Given the description of an element on the screen output the (x, y) to click on. 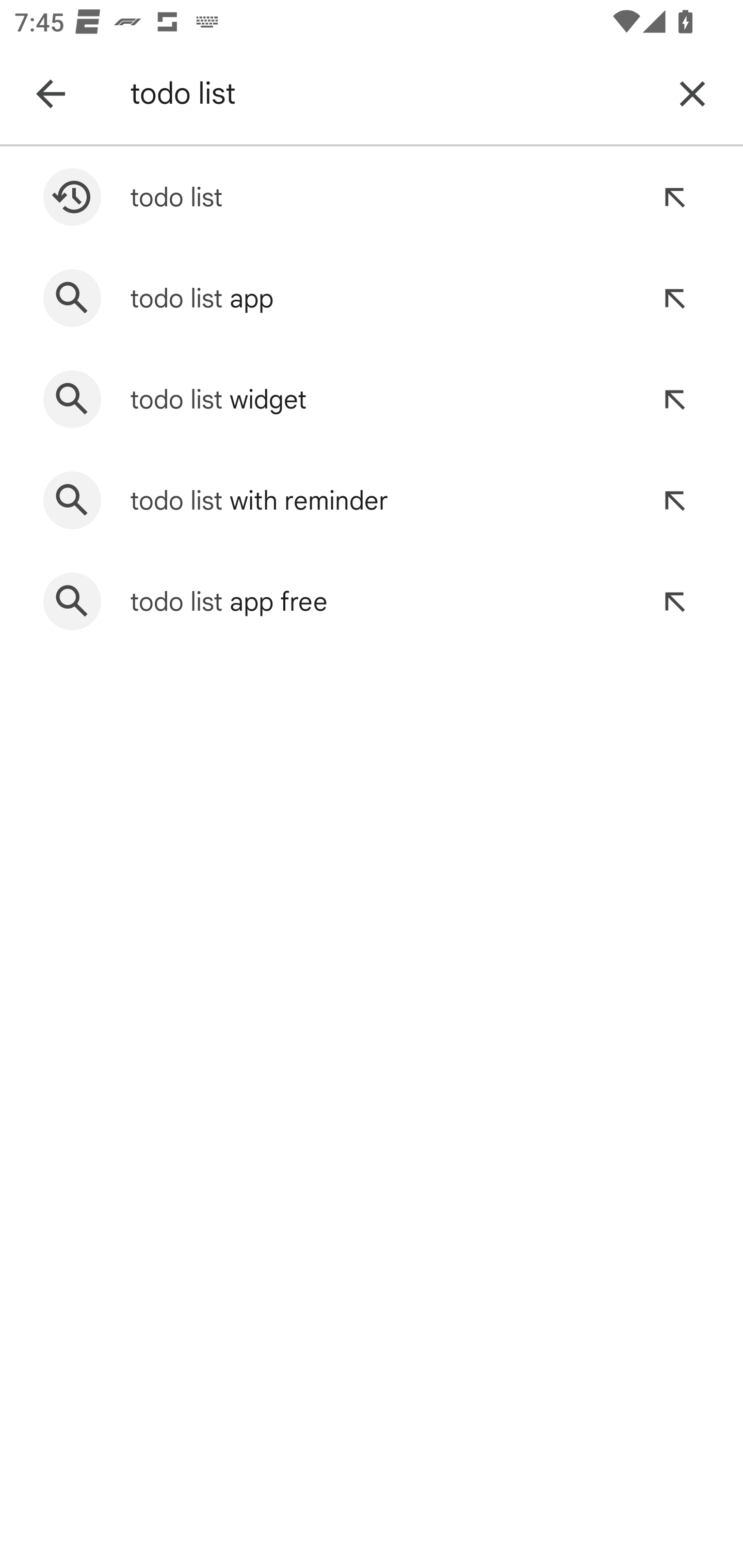
Navigate up (50, 93)
todo list (389, 93)
Clear (692, 93)
Refine search to "todo list" (673, 196)
Refine search to "todo list app" (673, 297)
Refine search to "todo list widget" (673, 399)
Refine search to "todo list with reminder" (673, 500)
Refine search to "todo list app free" (673, 601)
